Given the description of an element on the screen output the (x, y) to click on. 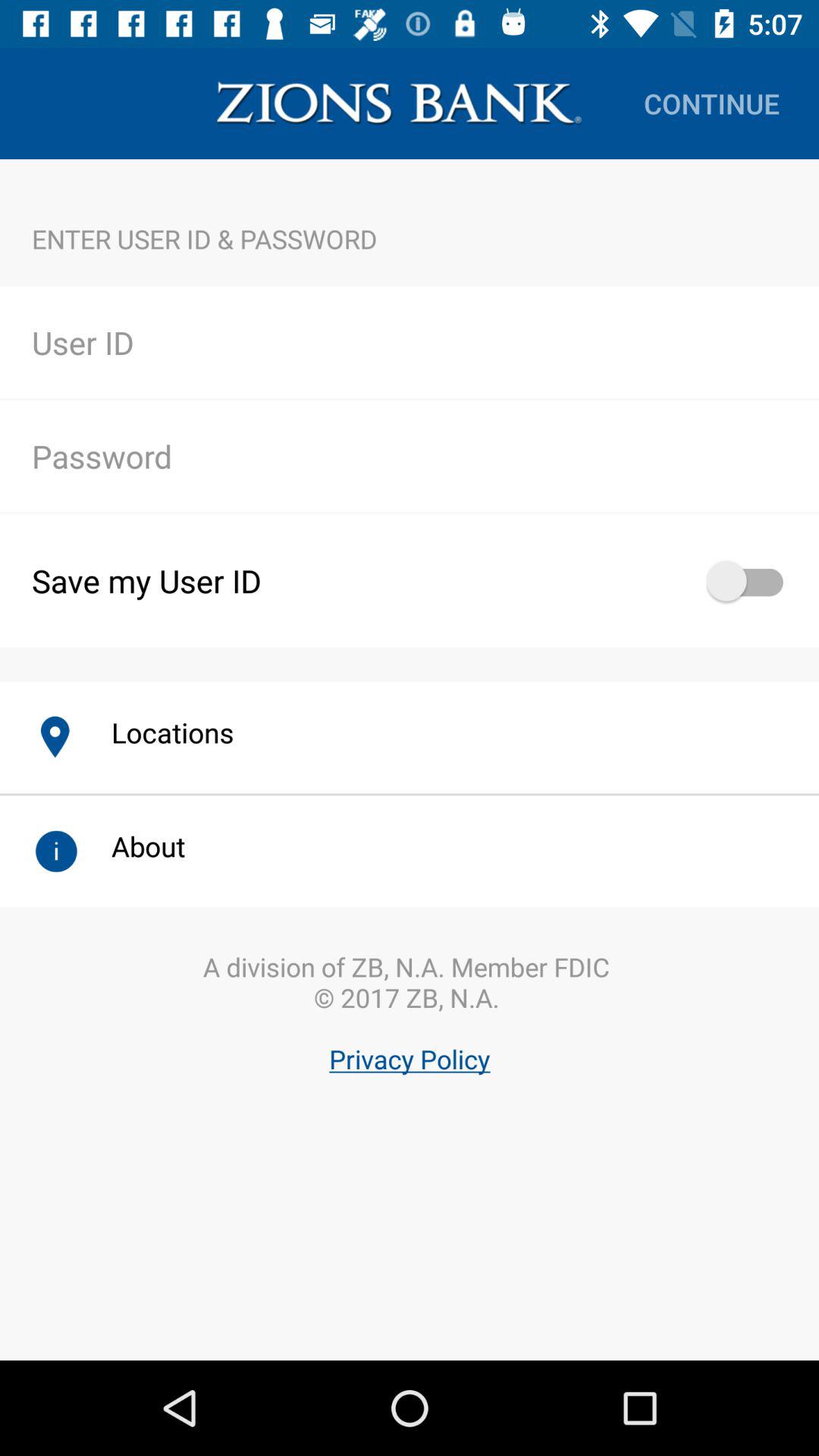
flip until locations (156, 732)
